Given the description of an element on the screen output the (x, y) to click on. 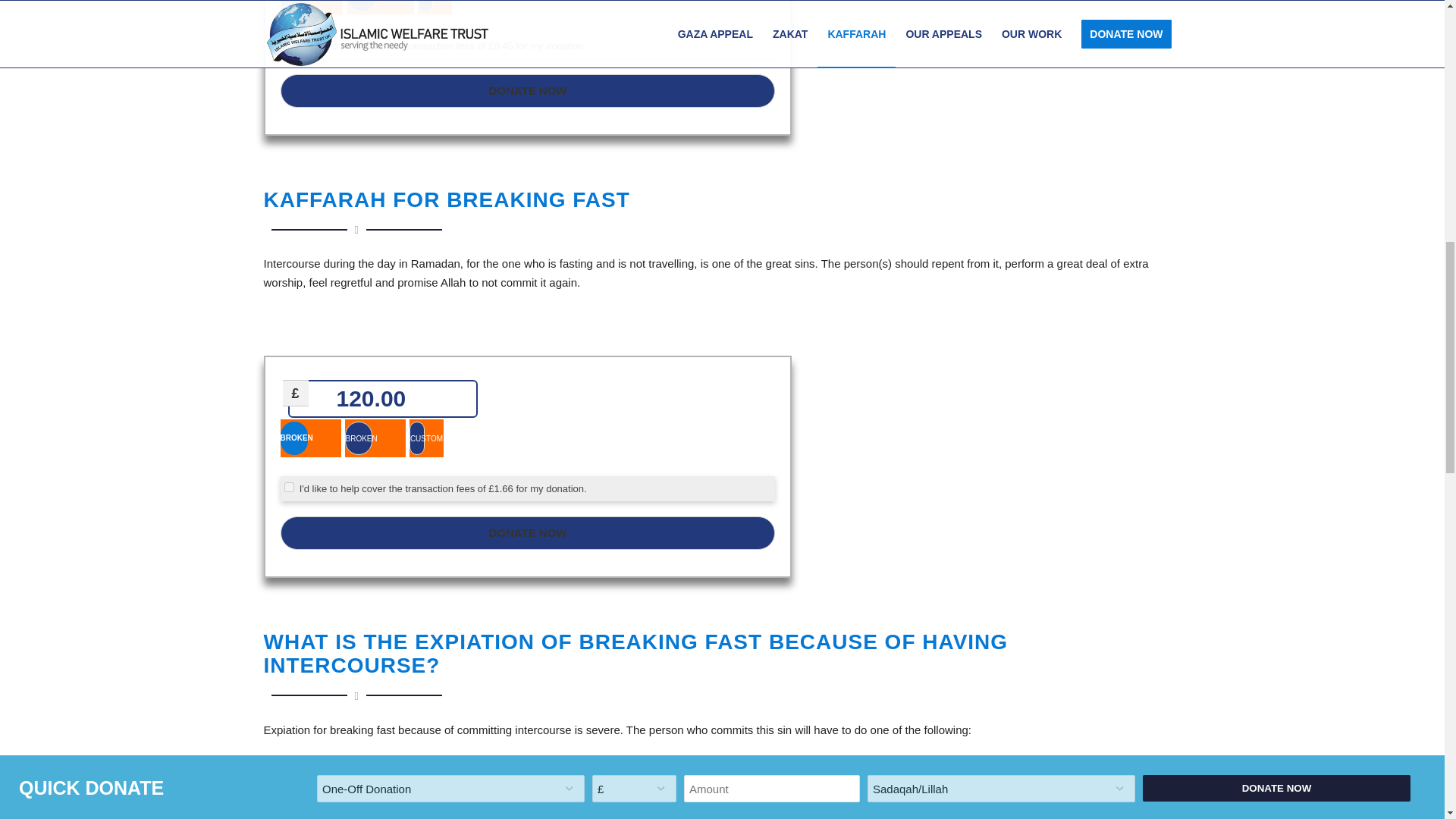
BROKEN 1 OATH (294, 6)
BROKEN 2 OATHS (361, 6)
1 (288, 44)
120.00 (382, 398)
1 (288, 487)
DONATE NOW (528, 90)
CUSTOM (424, 6)
DONATE NOW (528, 532)
